Given the description of an element on the screen output the (x, y) to click on. 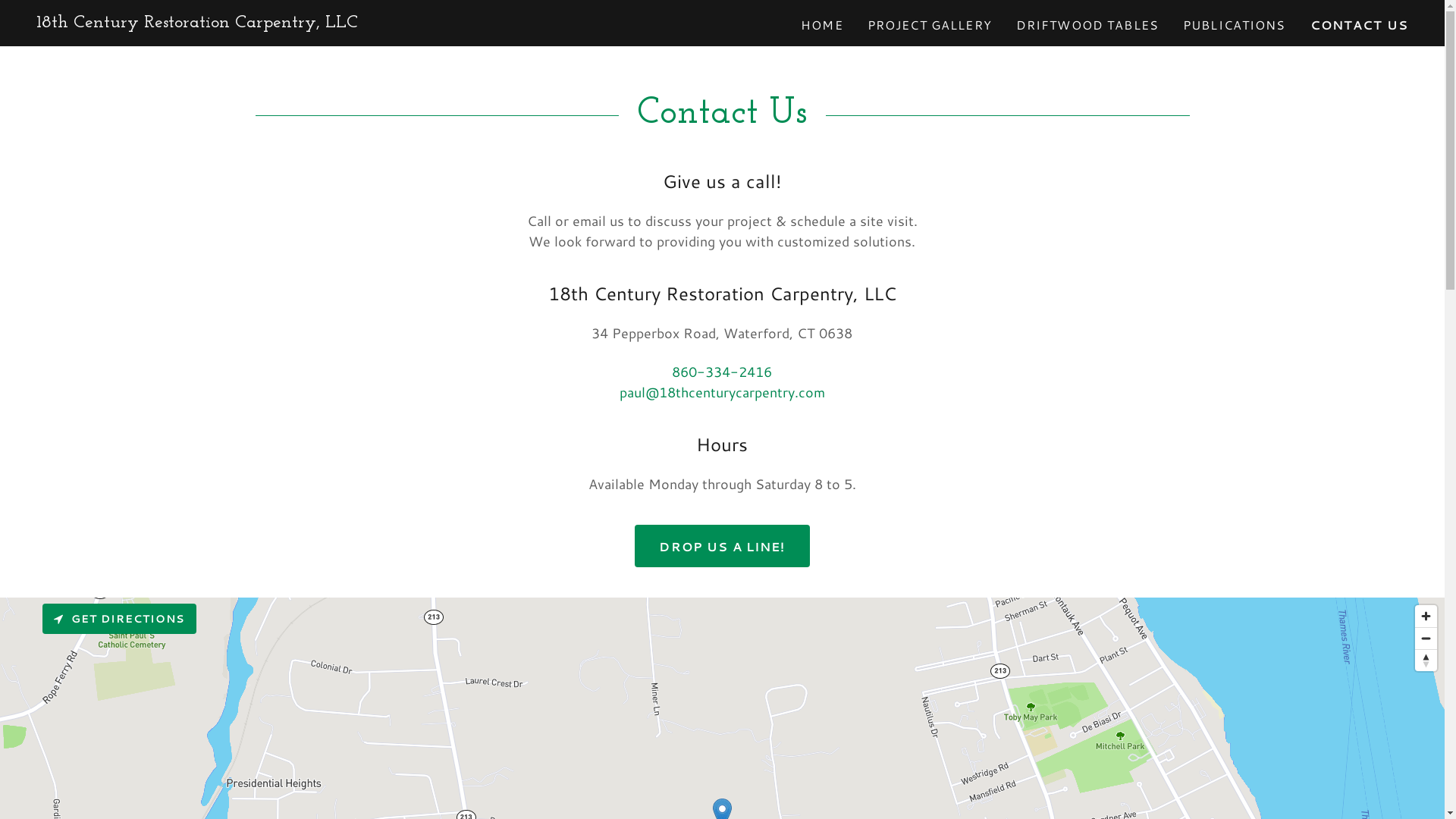
18th Century Restoration Carpentry, LLC Element type: text (196, 21)
PUBLICATIONS Element type: text (1234, 24)
paul@18thcenturycarpentry.com Element type: text (722, 391)
Zoom in Element type: hover (1426, 616)
CONTACT US Element type: text (1359, 24)
DRIFTWOOD TABLES Element type: text (1087, 24)
HOME Element type: text (821, 24)
Reset bearing to north Element type: hover (1426, 660)
PROJECT GALLERY Element type: text (929, 24)
DROP US A LINE! Element type: text (721, 545)
Zoom out Element type: hover (1426, 638)
860-334-2416 Element type: text (721, 371)
GET DIRECTIONS Element type: text (119, 618)
